Given the description of an element on the screen output the (x, y) to click on. 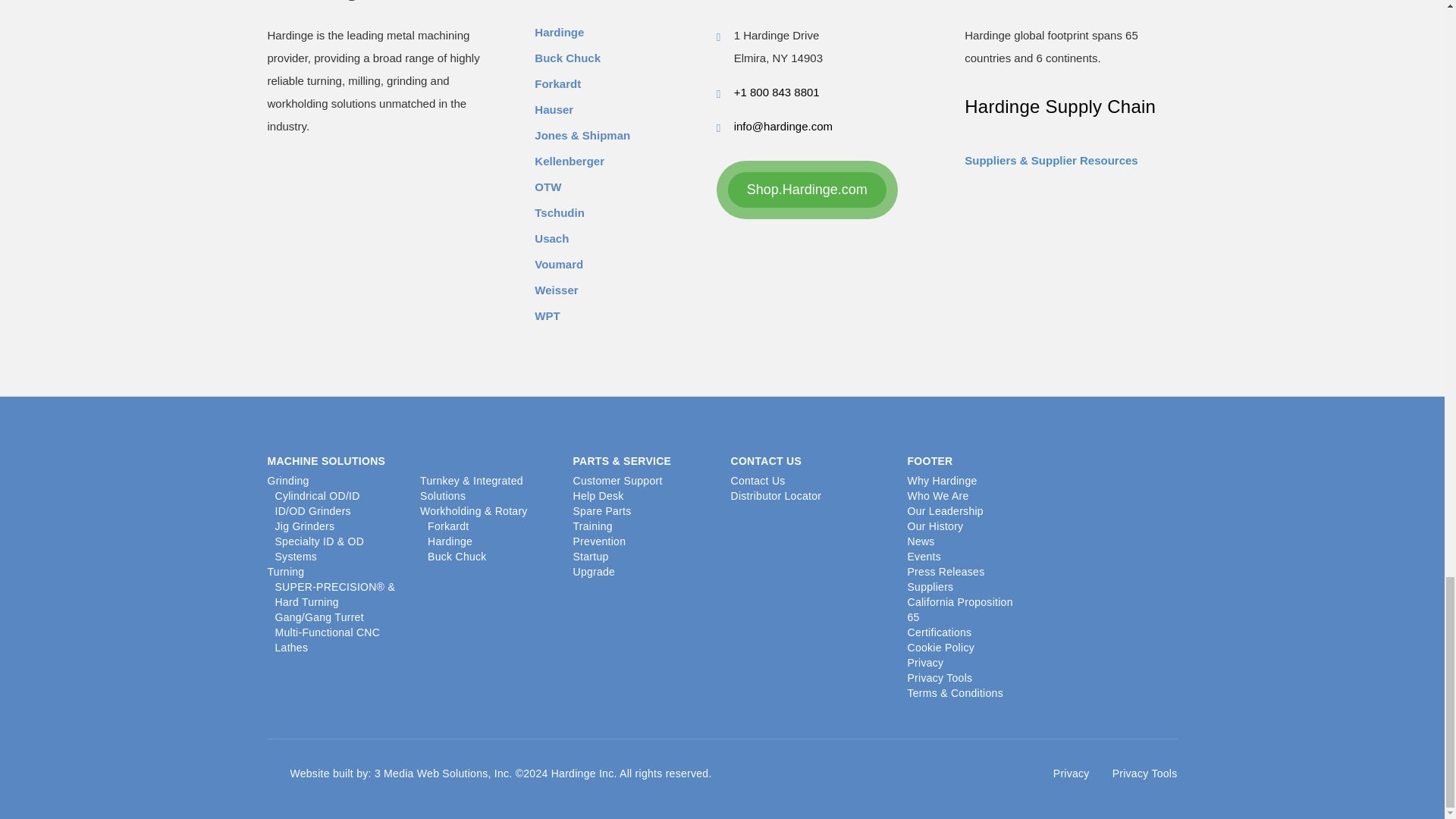
Manufacturing Website built by 3 Media Web (400, 773)
